Given the description of an element on the screen output the (x, y) to click on. 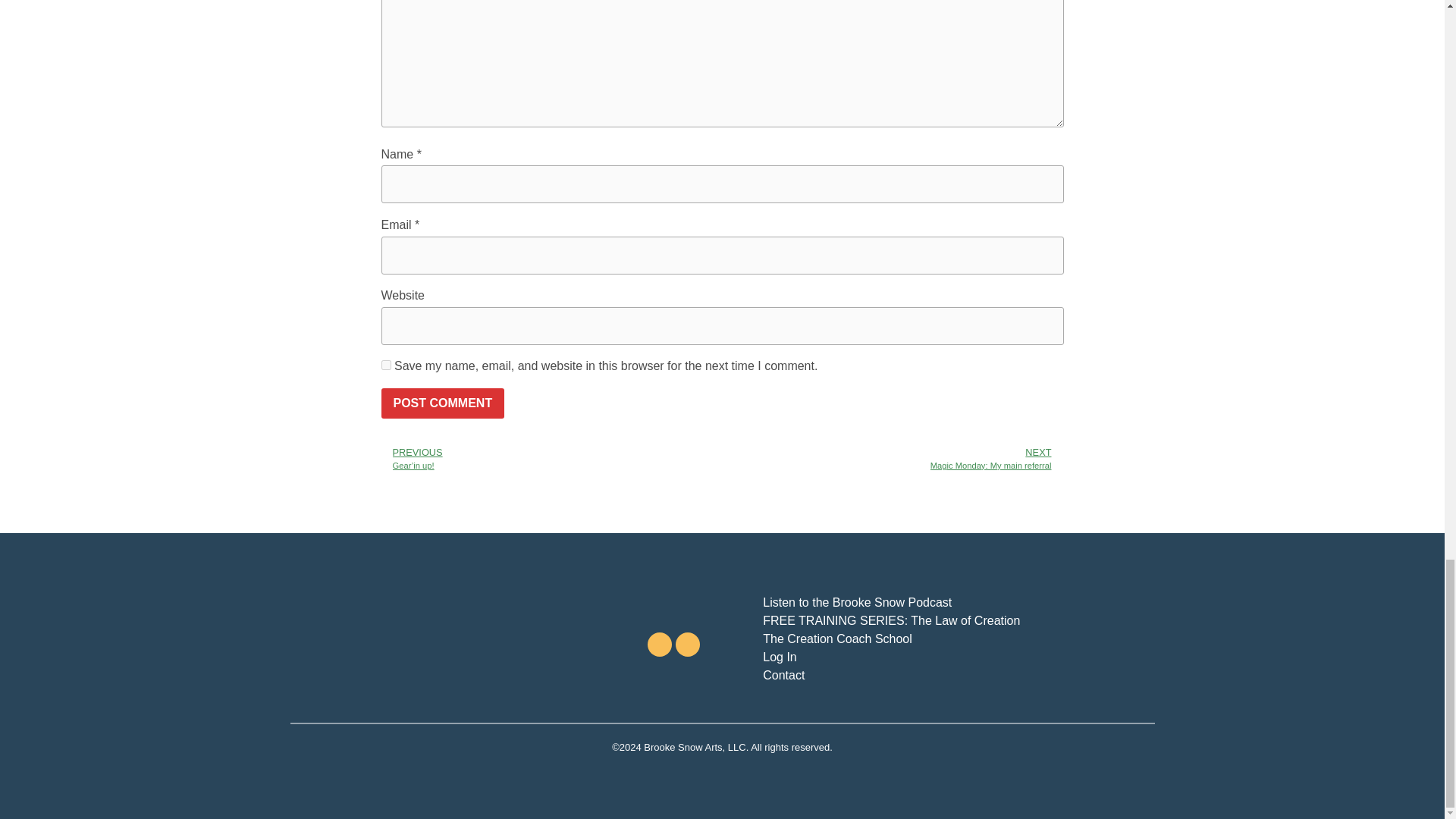
Post Comment (441, 403)
Post Comment (441, 403)
yes (385, 365)
